Given the description of an element on the screen output the (x, y) to click on. 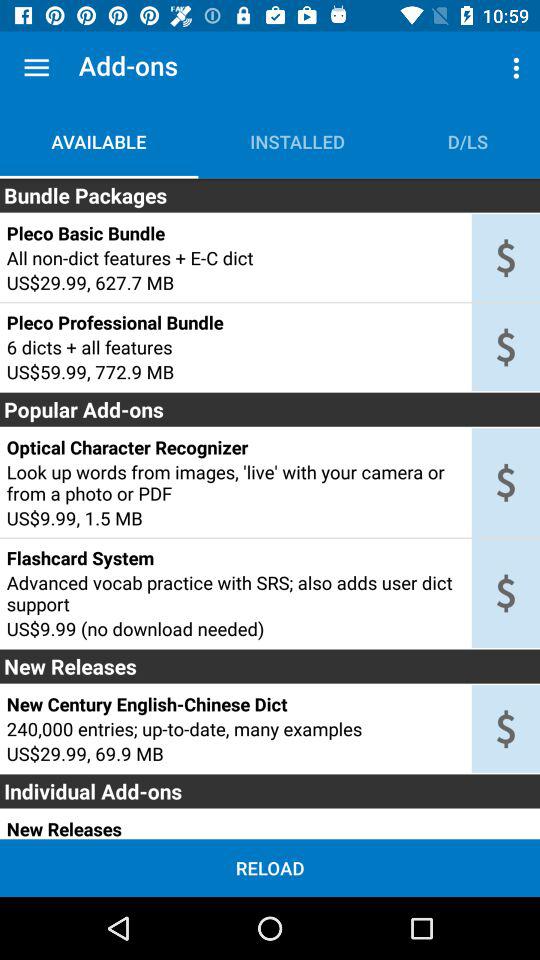
jump until the reload icon (270, 867)
